Given the description of an element on the screen output the (x, y) to click on. 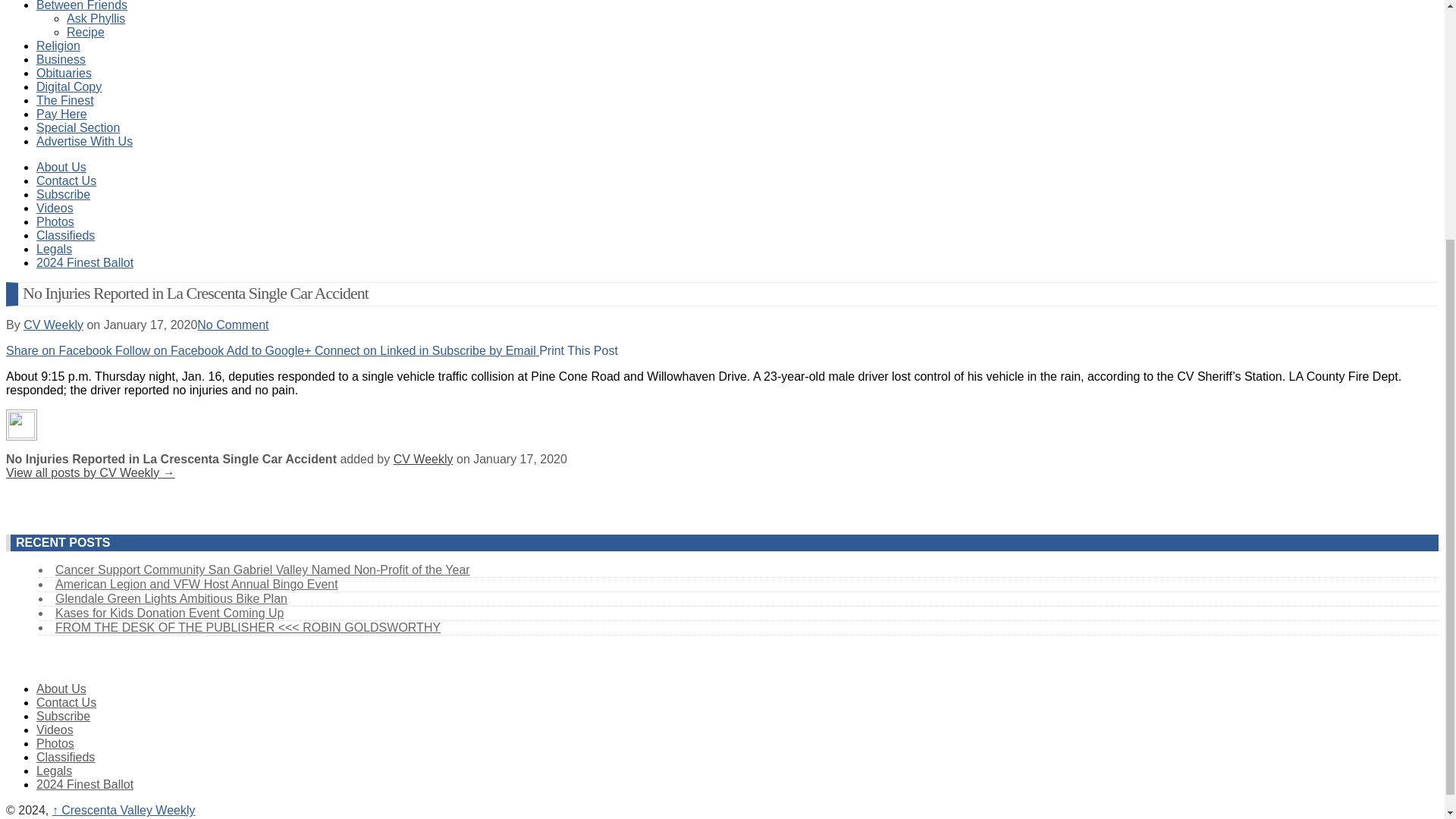
Crescenta Valley Weekly (123, 809)
Contact Us (66, 180)
Subscribe (63, 194)
No Comment (231, 324)
Obituaries (63, 72)
The Finest (65, 100)
Photos (55, 221)
Advertise With Us (84, 141)
Special Section (77, 127)
Recipe (85, 31)
